Given the description of an element on the screen output the (x, y) to click on. 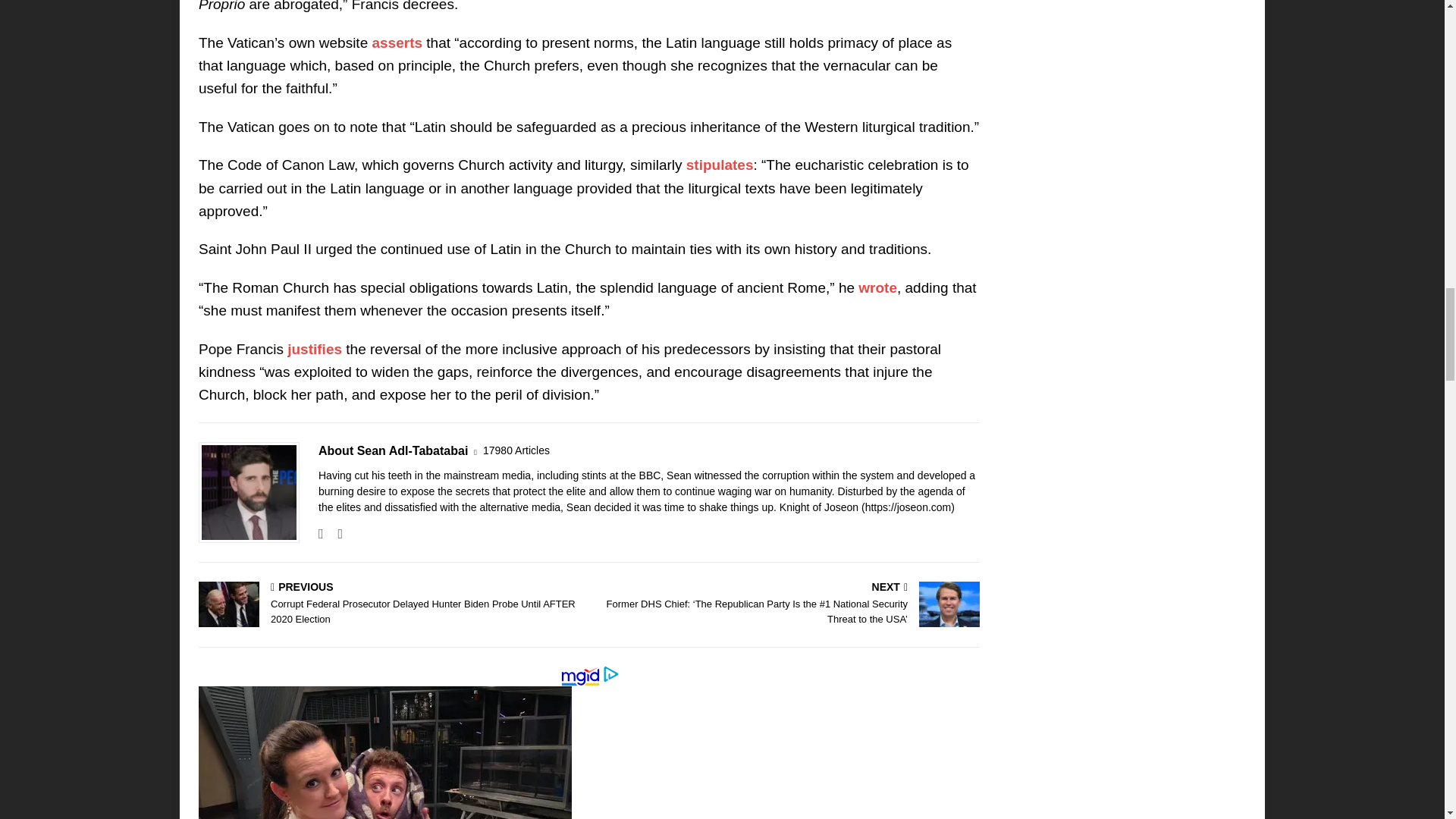
Follow Sean Adl-Tabatabai on Twitter (334, 533)
More articles written by Sean Adl-Tabatabai' (516, 450)
